Given the description of an element on the screen output the (x, y) to click on. 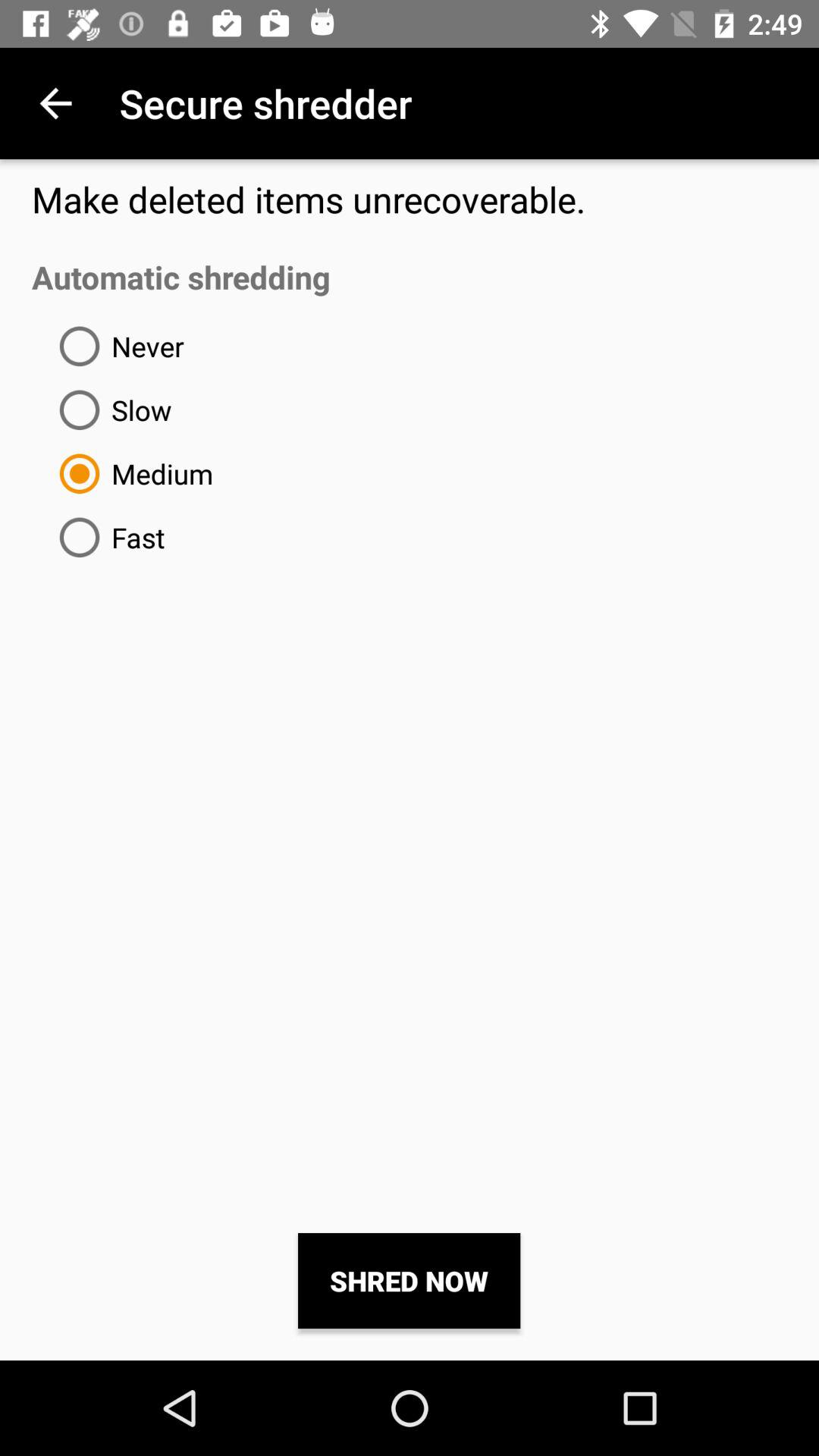
press the item above the make deleted items item (55, 103)
